Given the description of an element on the screen output the (x, y) to click on. 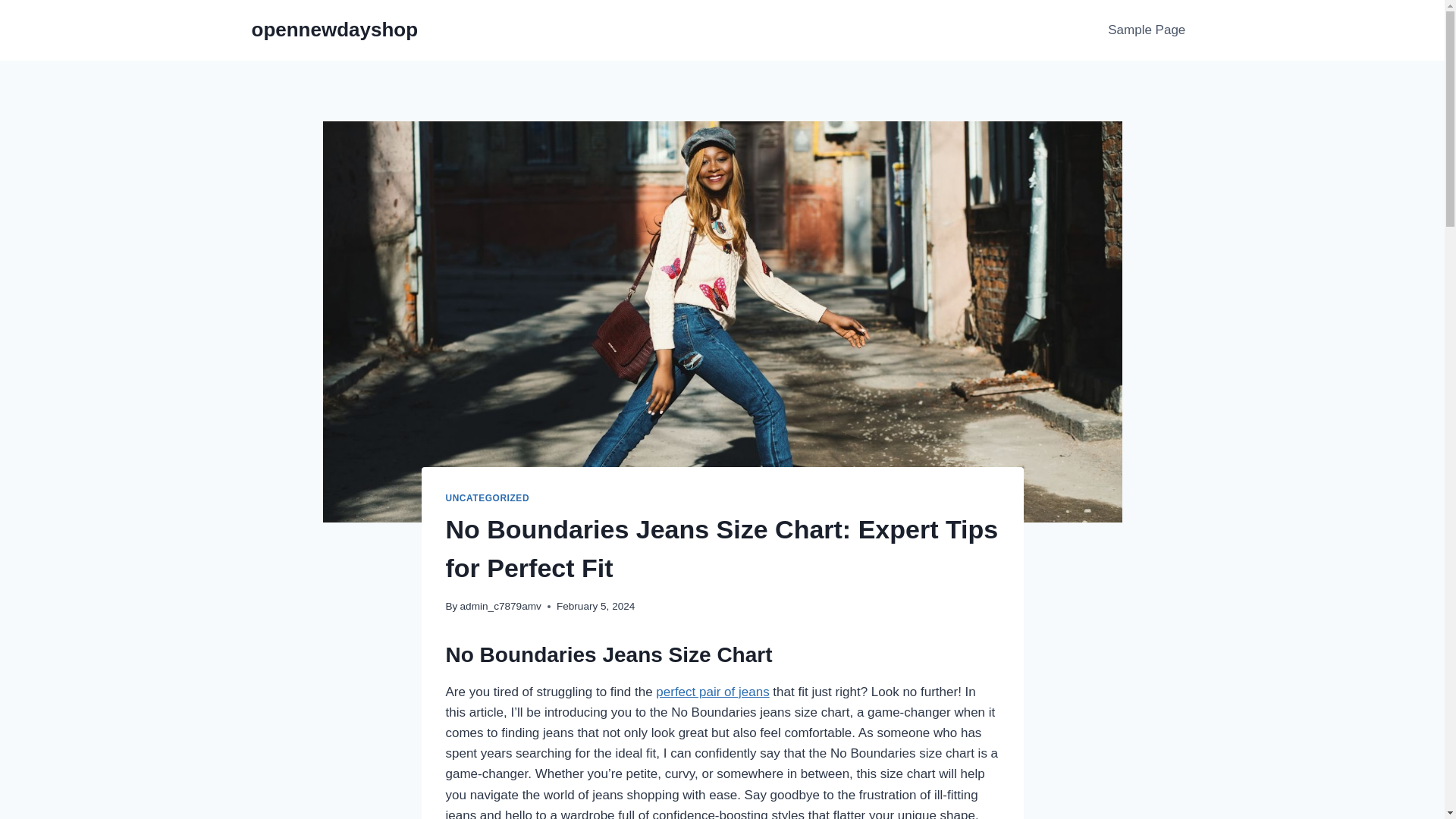
UNCATEGORIZED (487, 498)
opennewdayshop (335, 29)
Sample Page (1146, 30)
perfect pair of jeans (712, 691)
